Given the description of an element on the screen output the (x, y) to click on. 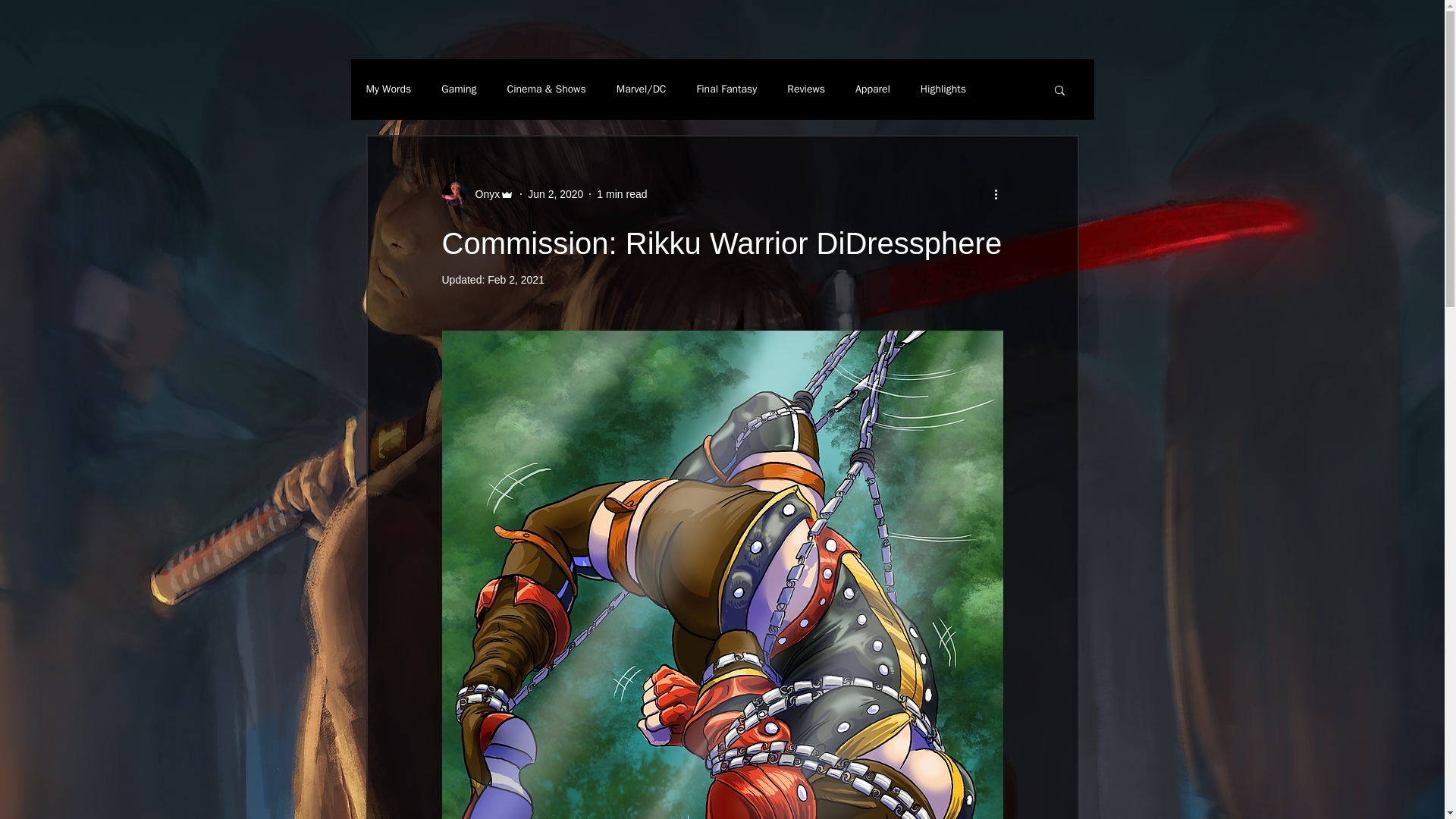
Onyx (477, 193)
Apparel (872, 89)
Highlights (943, 89)
My Words (387, 89)
Gaming (458, 89)
Onyx (482, 194)
Final Fantasy (727, 89)
Feb 2, 2021 (515, 279)
Reviews (806, 89)
1 min read (621, 193)
Jun 2, 2020 (555, 193)
